Given the description of an element on the screen output the (x, y) to click on. 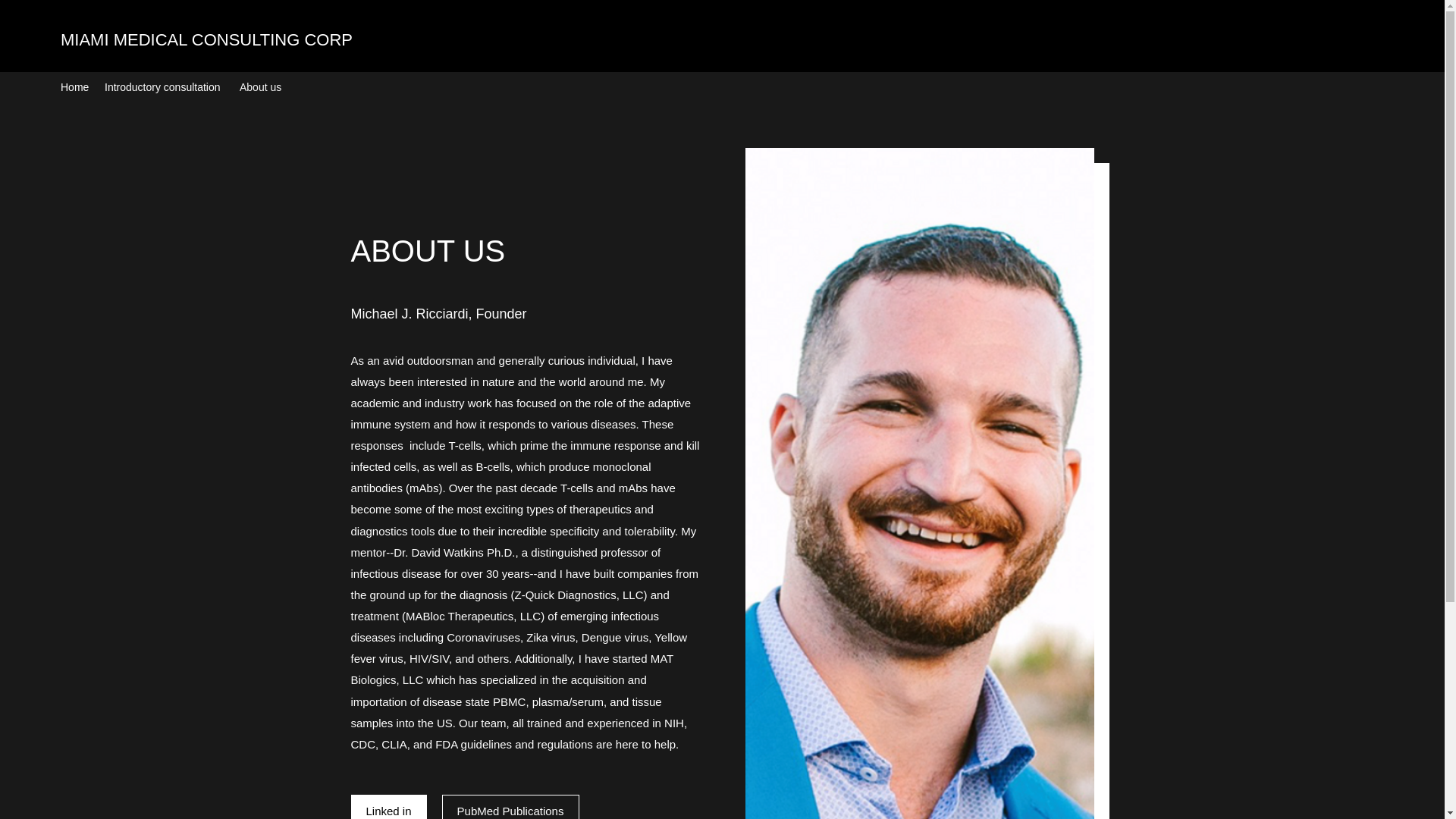
PubMed Publications (509, 806)
Home (74, 87)
Linked in (388, 806)
MIAMI MEDICAL CONSULTING CORP (206, 39)
About us (261, 87)
Introductory consultation (164, 87)
